Given the description of an element on the screen output the (x, y) to click on. 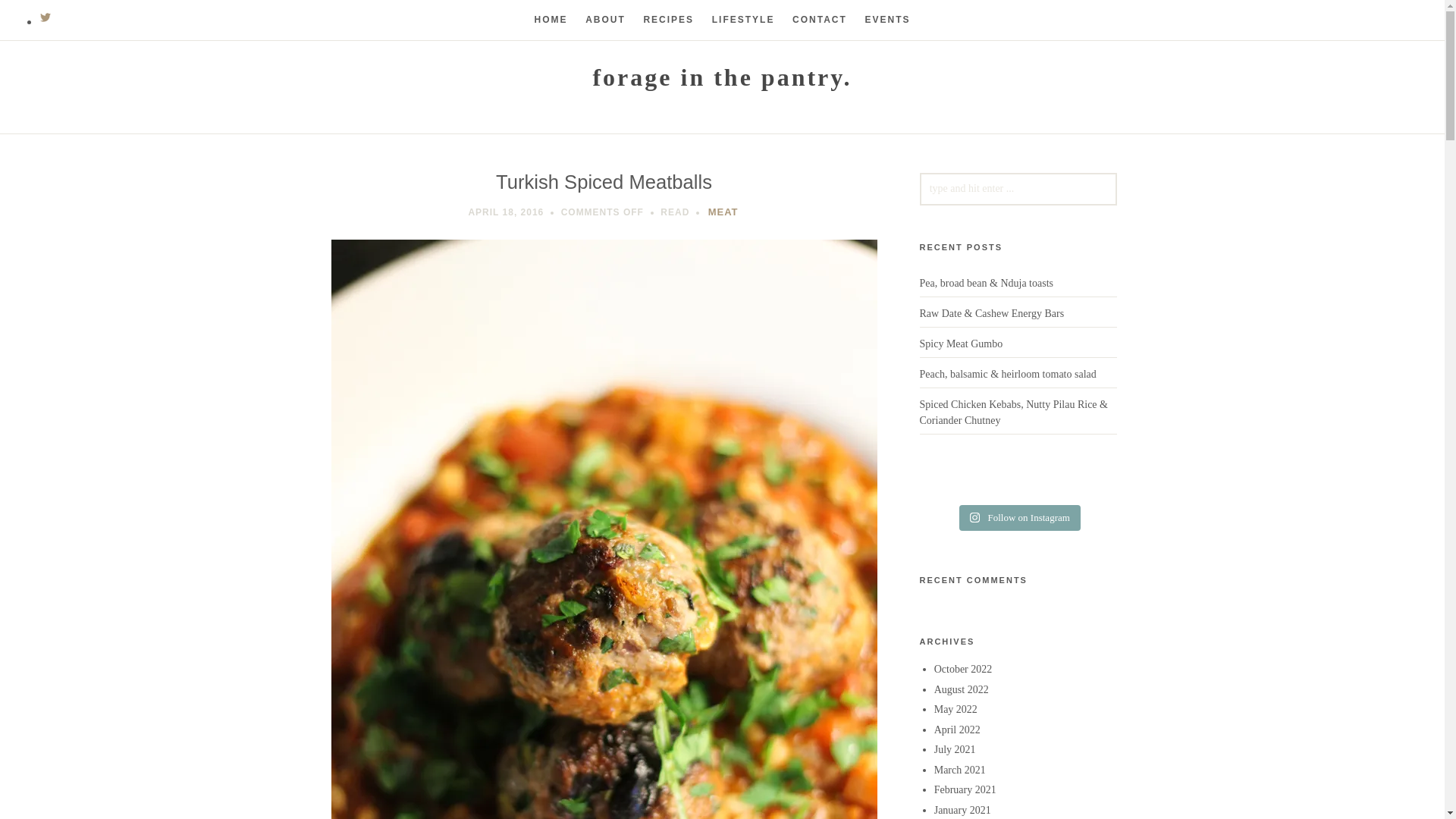
MEAT (722, 211)
ABOUT (605, 20)
forage in the pantry. (721, 76)
CONTACT (819, 20)
Spicy Meat Gumbo (960, 343)
EVENTS (887, 20)
Search (39, 16)
RECIPES (668, 20)
LIFESTYLE (742, 20)
